Given the description of an element on the screen output the (x, y) to click on. 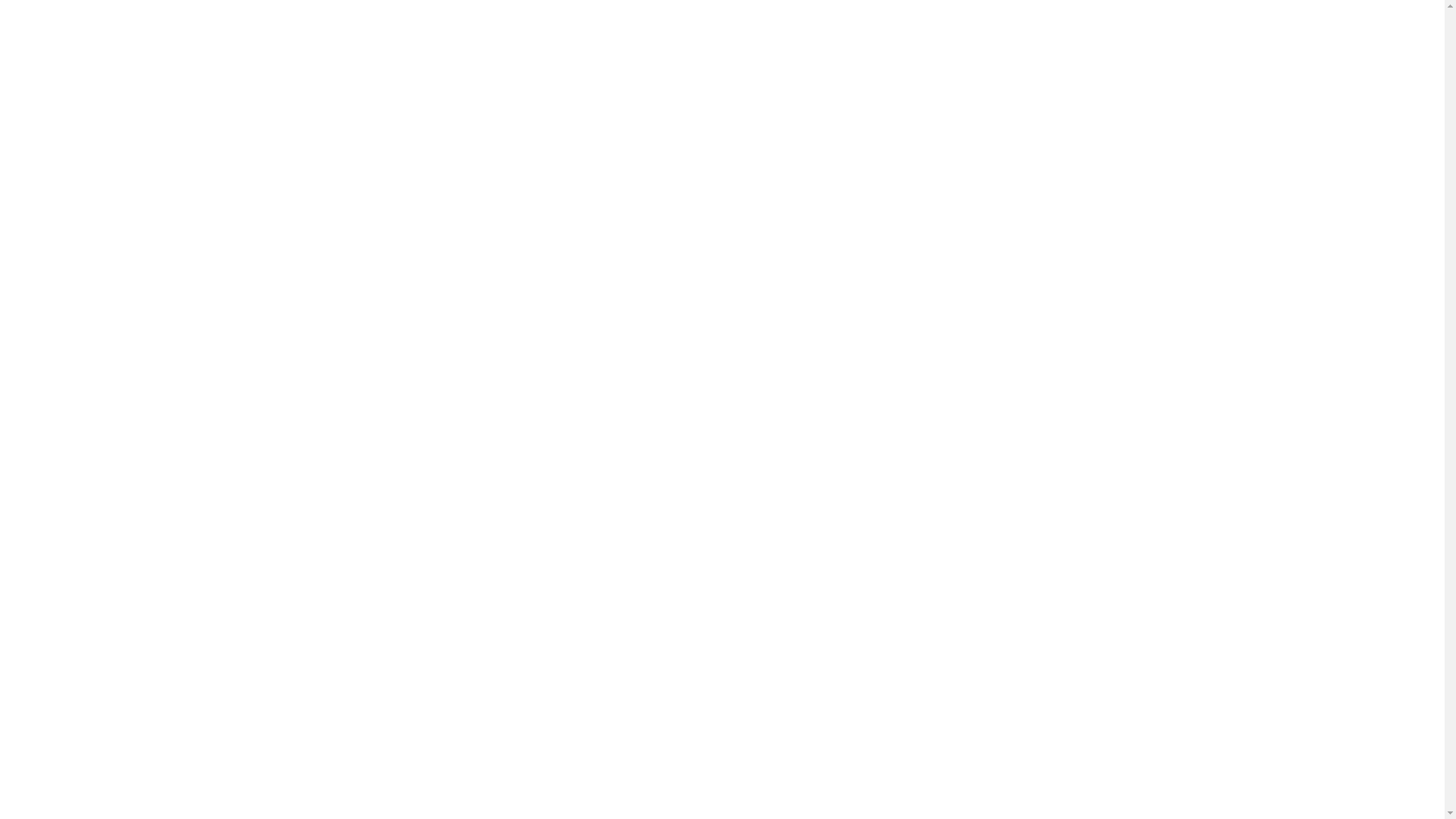
Magasin et horaires Element type: text (841, 151)
Facebook Element type: text (1101, 151)
Commandes & livraisons Element type: text (1198, 634)
Accueil Element type: text (1198, 581)
Magasin et horaires Element type: text (1198, 687)
info@aupanierfleuri.ch Element type: text (556, 726)
Comment nous trouver Element type: text (984, 151)
Commandes & livraisons Element type: text (548, 151)
Comment nous trouver Element type: text (1198, 714)
Facebook Element type: text (1198, 741)
Accueil Element type: text (336, 151)
